Given the description of an element on the screen output the (x, y) to click on. 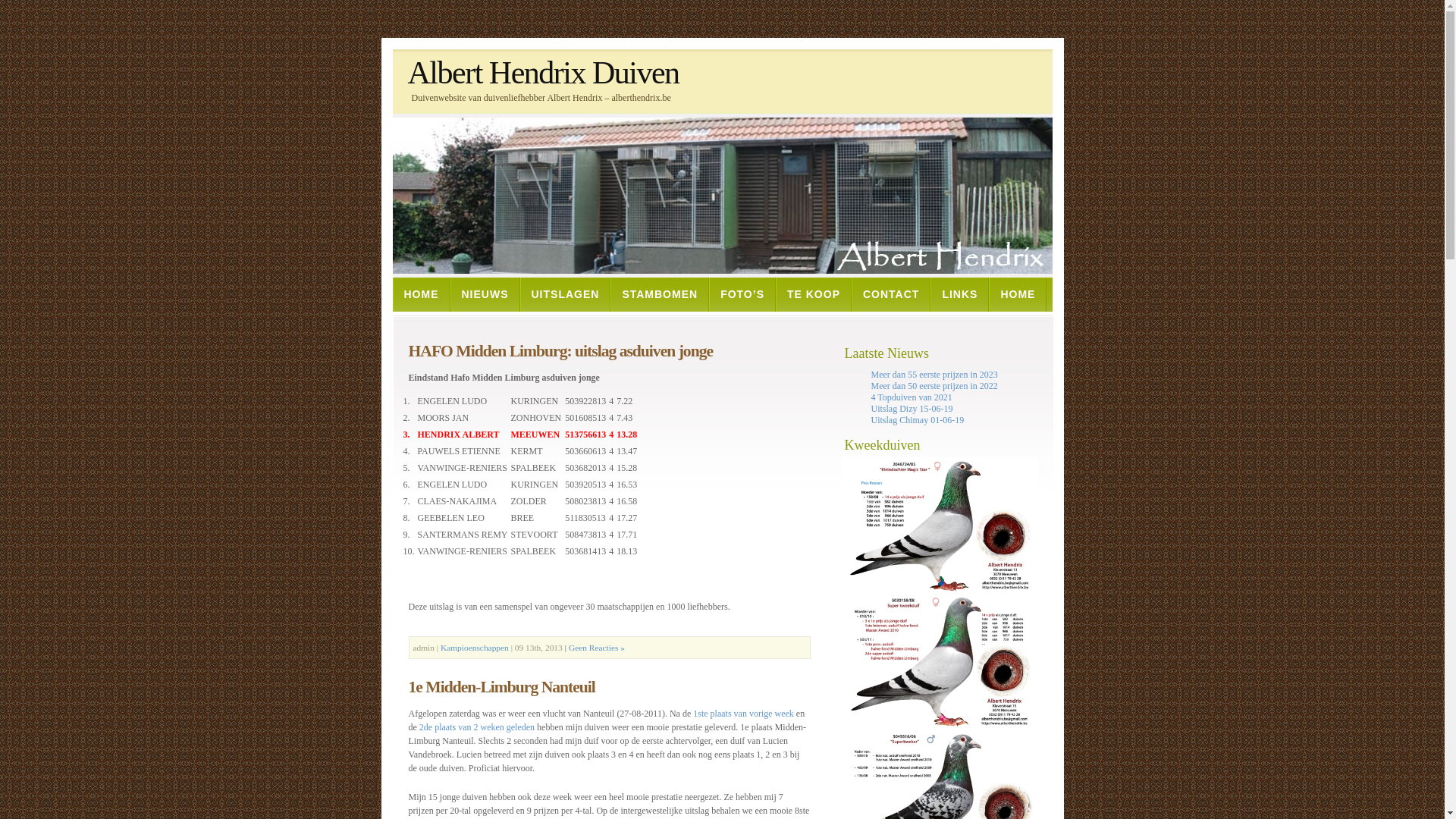
1e Midden-Limburg Nanteuil Element type: text (500, 686)
2de plaats van 2 weken geleden Element type: text (476, 726)
LINKS Element type: text (959, 294)
CONTACT Element type: text (890, 294)
Kampioenschappen Element type: text (474, 647)
UITSLAGEN Element type: text (565, 294)
TE KOOP Element type: text (813, 294)
NIEUWS Element type: text (485, 294)
STAMBOMEN Element type: text (659, 294)
Meer dan 50 eerste prijzen in 2022 Element type: text (933, 385)
Uitslag Chimay 01-06-19 Element type: text (916, 419)
HOME Element type: text (421, 294)
Meer dan 55 eerste prijzen in 2023 Element type: text (933, 374)
1ste plaats van vorige week Element type: text (743, 713)
Albert Hendrix Duiven Element type: text (619, 72)
4 Topduiven van 2021 Element type: text (910, 397)
HOME Element type: text (1017, 294)
Uitslag Dizy 15-06-19 Element type: text (911, 408)
HAFO Midden Limburg: uitslag asduiven jonge Element type: text (559, 351)
